Given the description of an element on the screen output the (x, y) to click on. 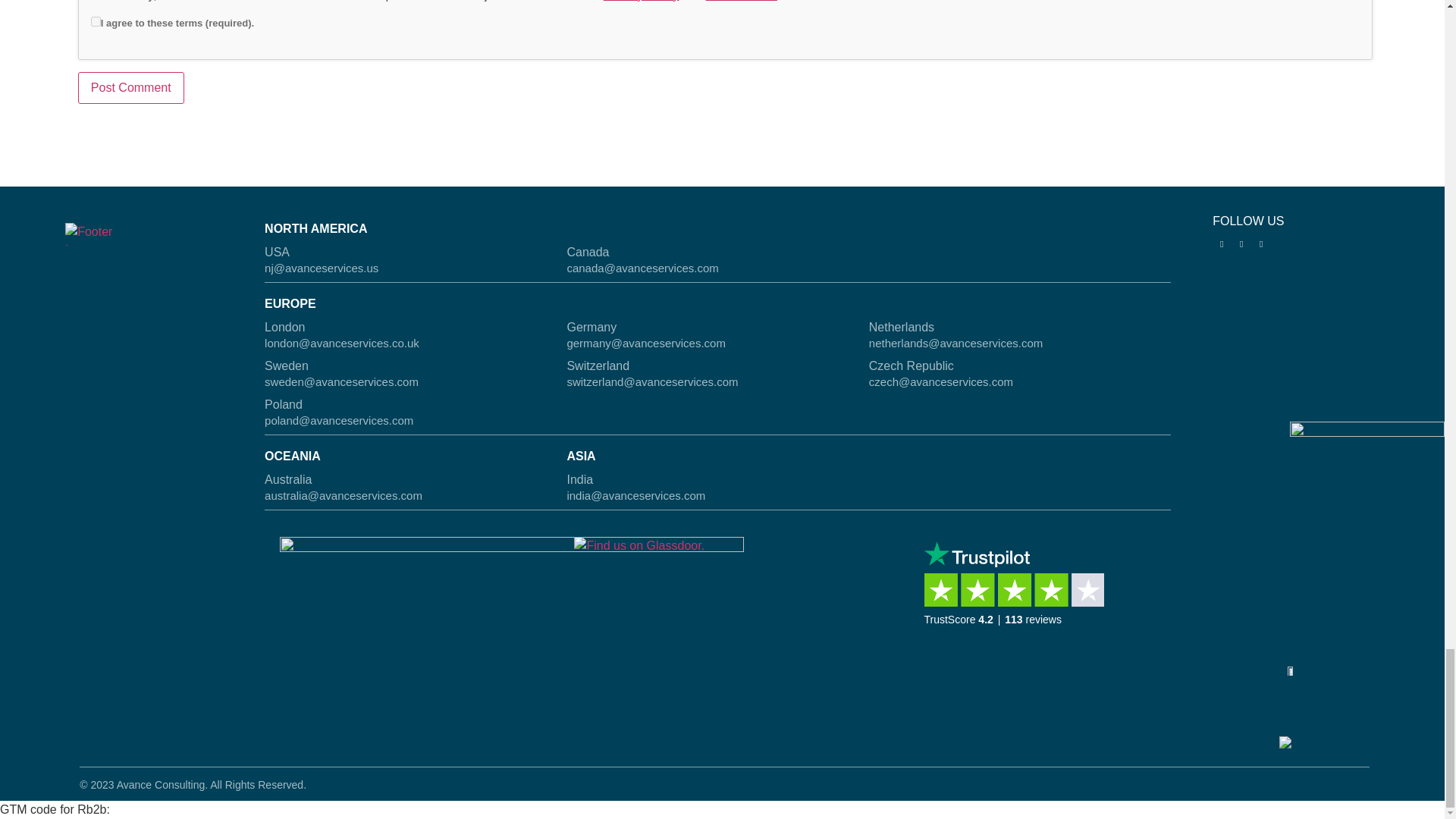
Customer reviews powered by Trustpilot (1019, 597)
on (95, 21)
Post Comment (131, 88)
